Given the description of an element on the screen output the (x, y) to click on. 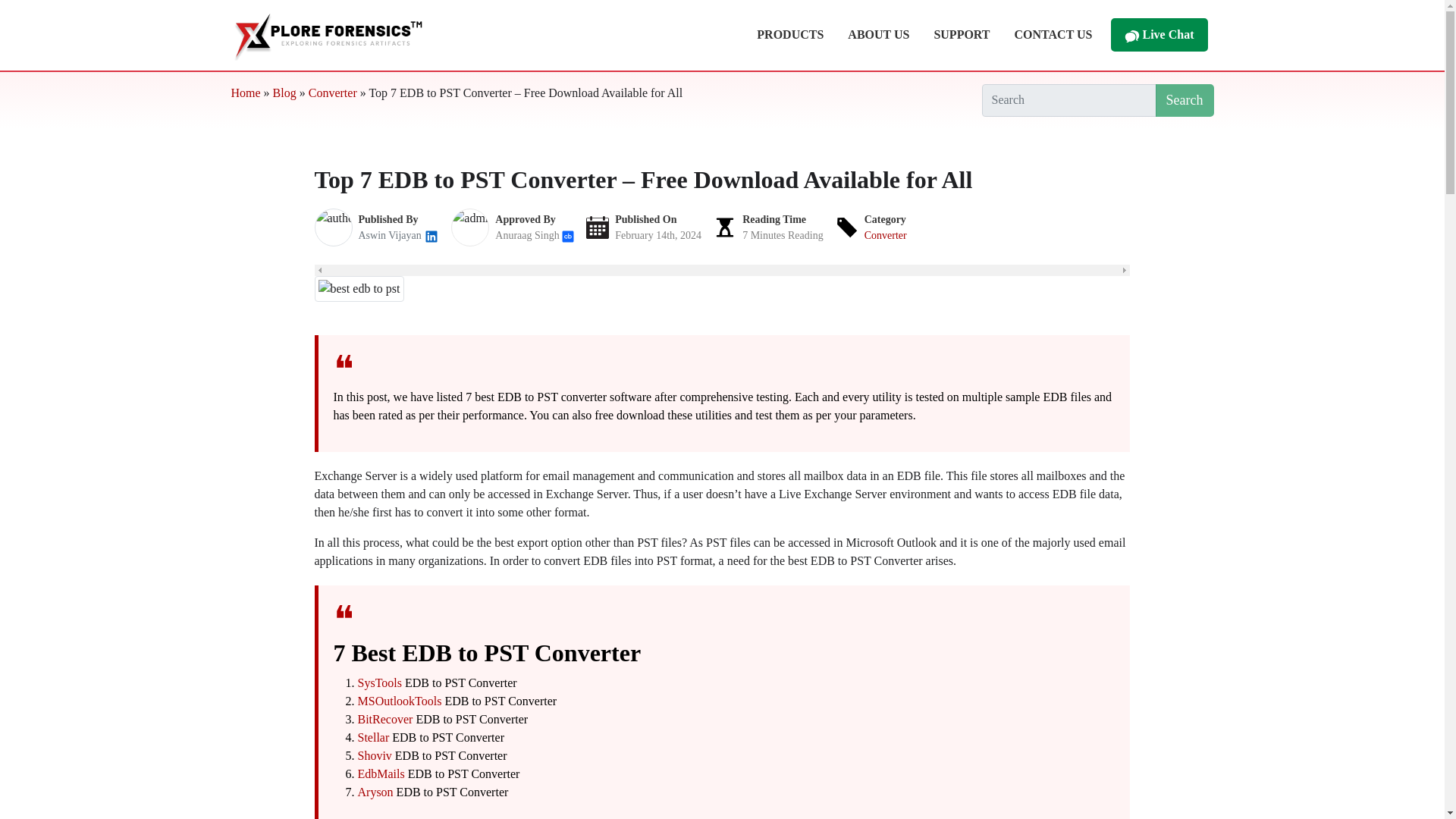
Live Chat (1158, 34)
PRODUCTS (789, 34)
SUPPORT (961, 34)
Converter (885, 235)
EdbMails (381, 773)
Blog (285, 92)
ABOUT US (878, 34)
Stellar (374, 737)
Aryson (375, 791)
CONTACT US (1054, 34)
